Given the description of an element on the screen output the (x, y) to click on. 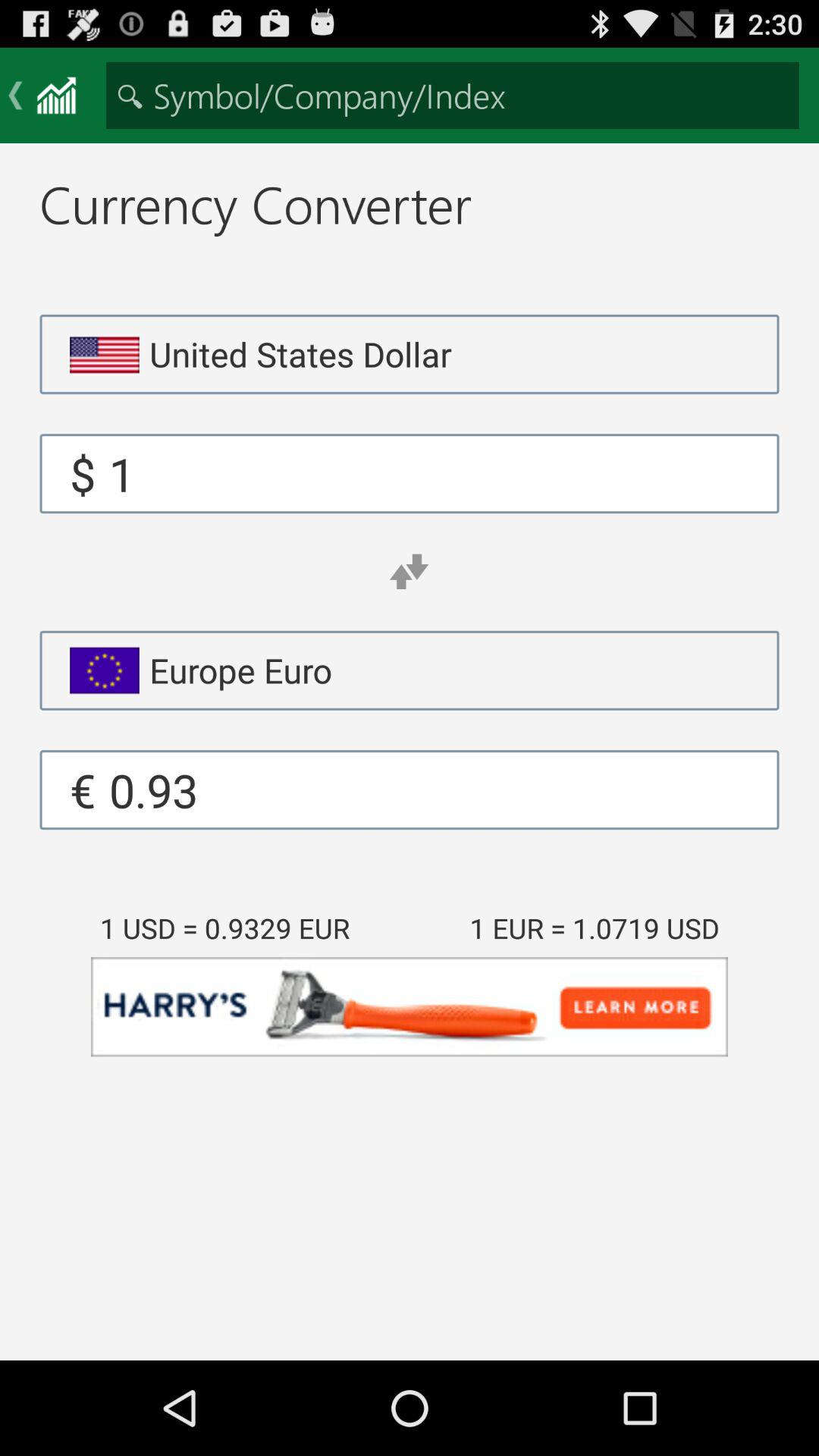
turn off the icon below 1 item (409, 571)
